Given the description of an element on the screen output the (x, y) to click on. 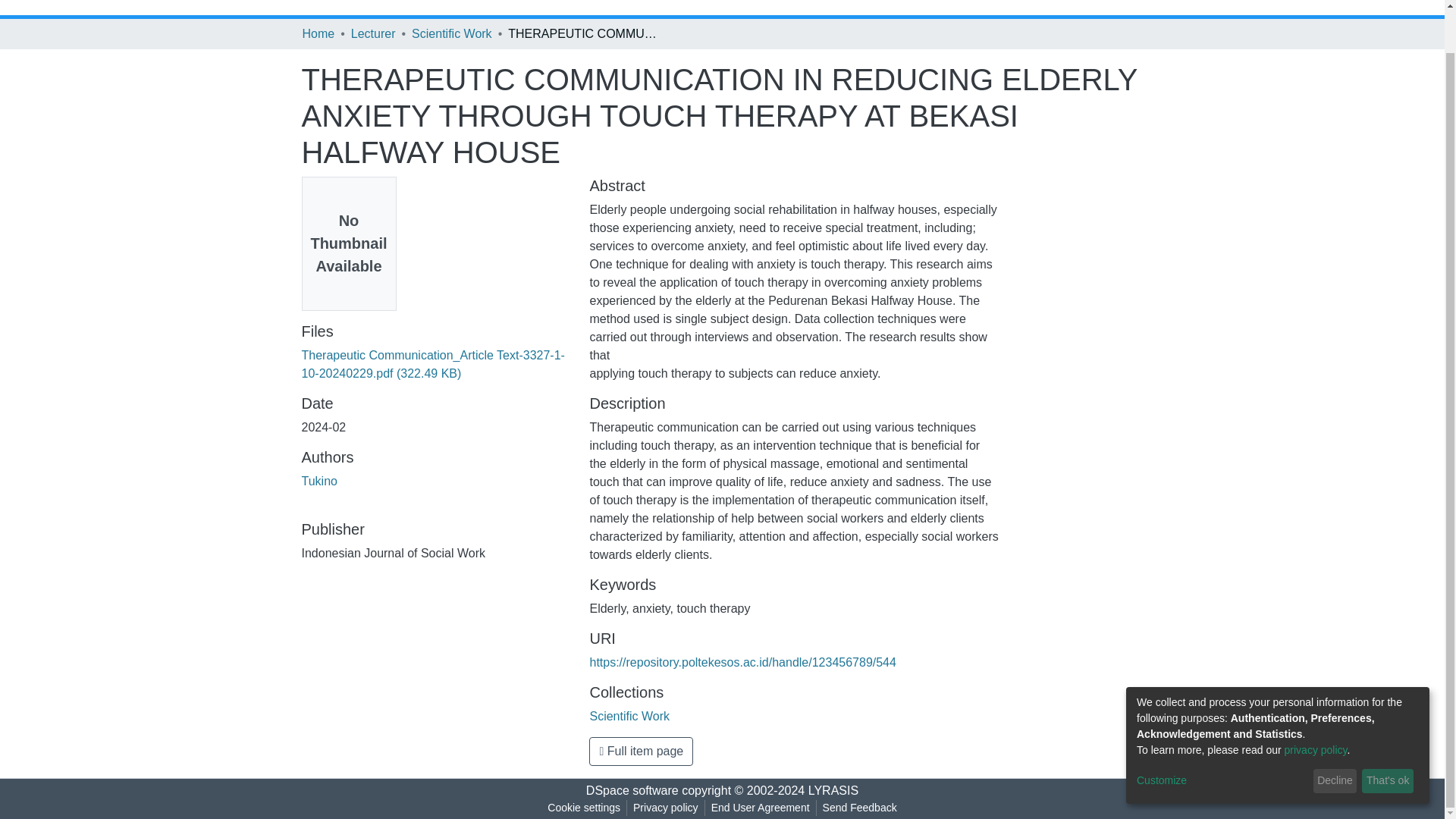
Scientific Work (629, 716)
Full item page (641, 751)
DSpace software (632, 789)
Privacy policy (665, 807)
LYRASIS (833, 789)
Decline (1334, 735)
Tukino (319, 481)
Scientific Work (452, 34)
Home (317, 34)
End User Agreement (759, 807)
